Given the description of an element on the screen output the (x, y) to click on. 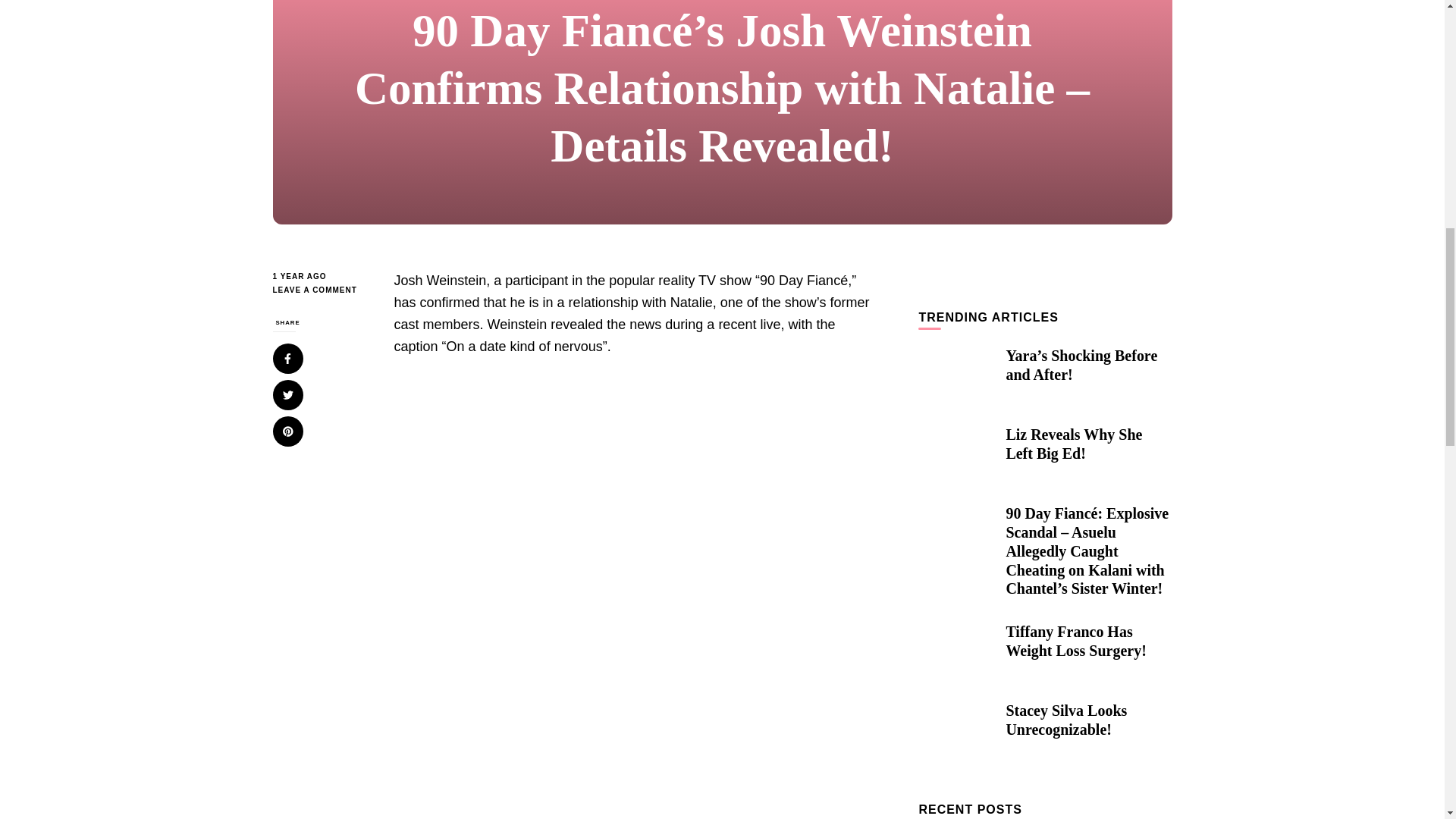
LEAVE A COMMENT (322, 290)
1 YEAR AGO (322, 276)
SHARE (287, 386)
